Given the description of an element on the screen output the (x, y) to click on. 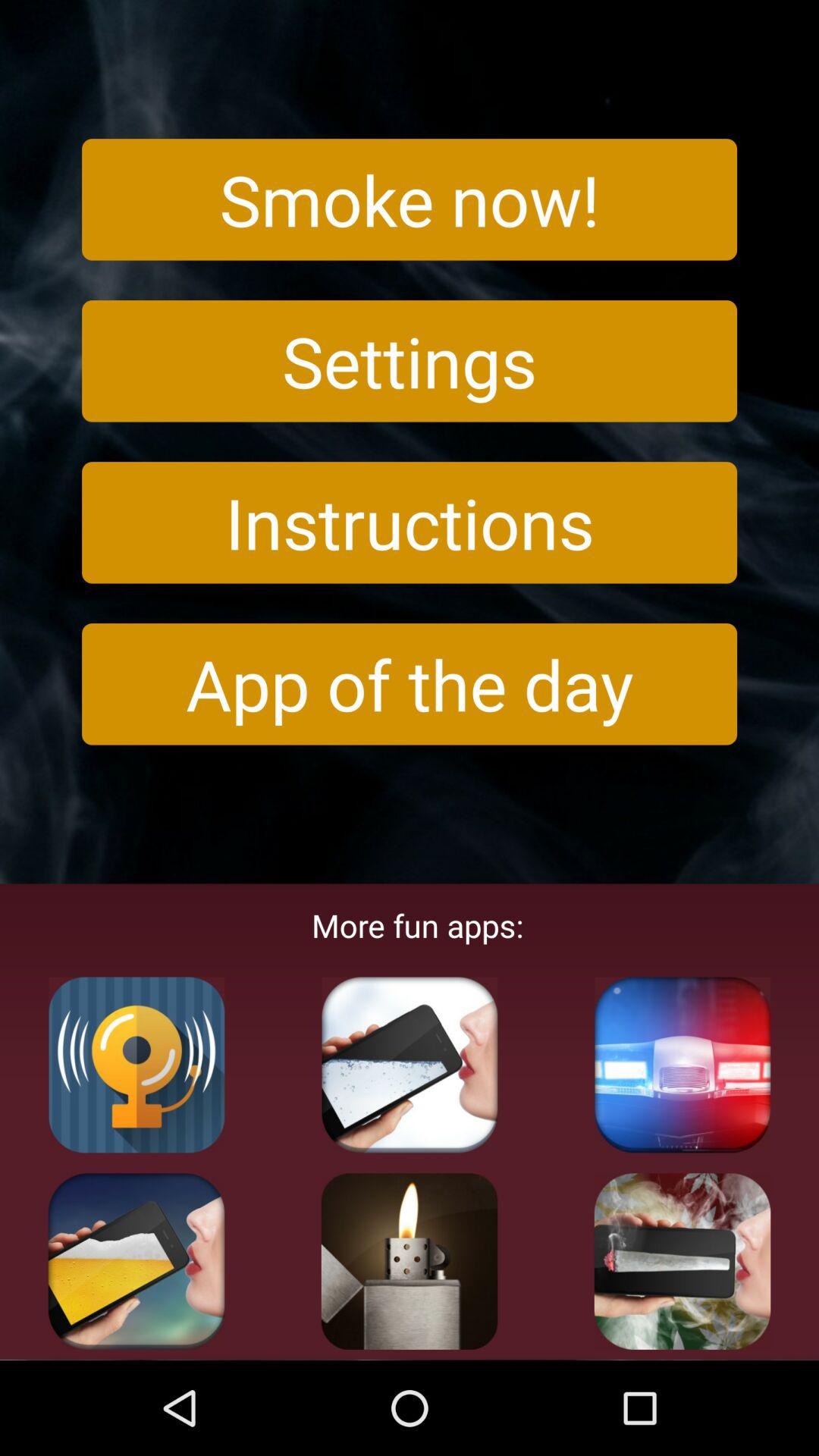
appliciation apps (136, 1261)
